Given the description of an element on the screen output the (x, y) to click on. 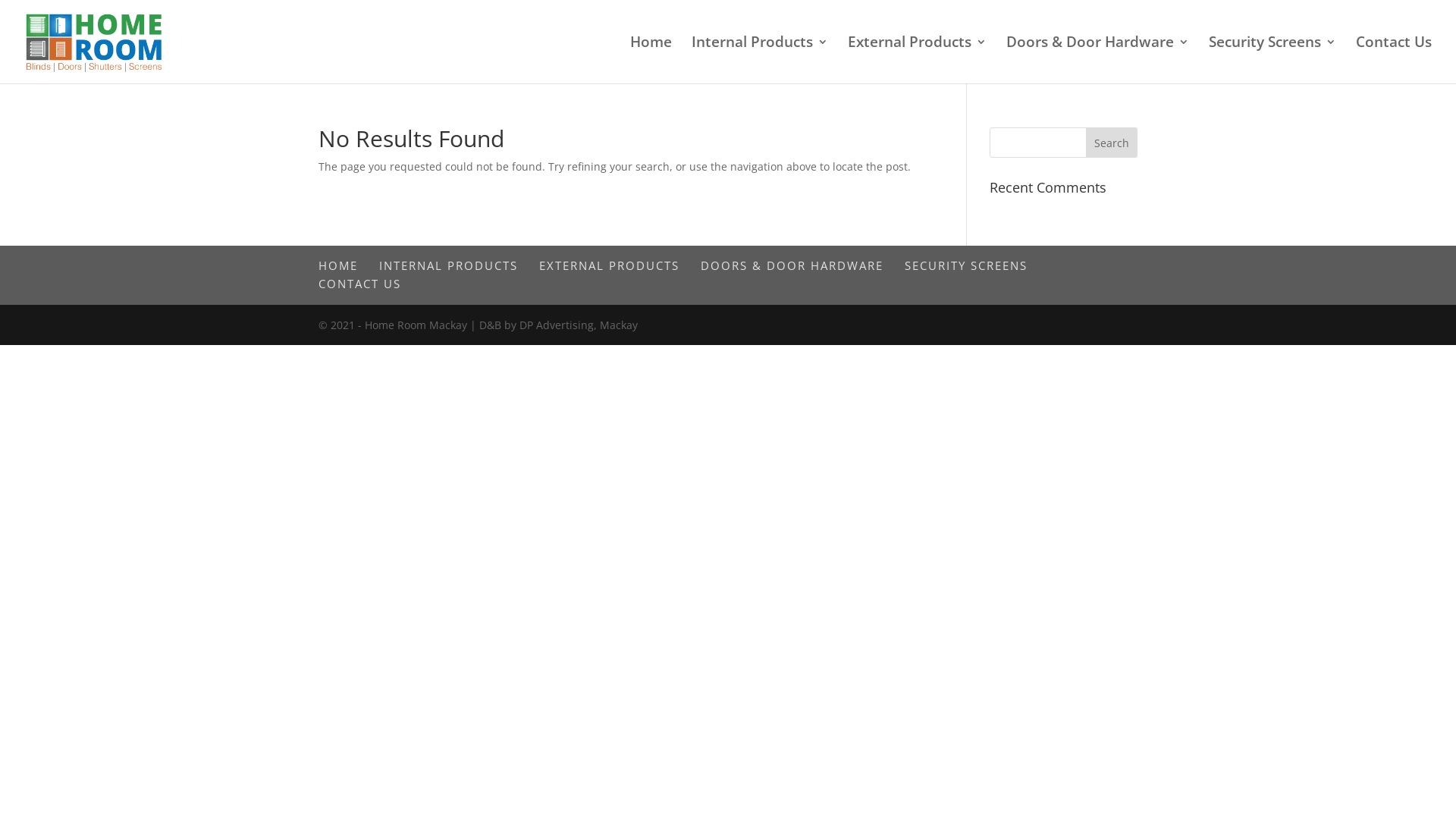
DOORS & DOOR HARDWARE Element type: text (791, 265)
External Products Element type: text (916, 59)
Internal Products Element type: text (759, 59)
SECURITY SCREENS Element type: text (965, 265)
Home Element type: text (650, 59)
Security Screens Element type: text (1272, 59)
EXTERNAL PRODUCTS Element type: text (609, 265)
Contact Us Element type: text (1393, 59)
CONTACT US Element type: text (359, 283)
Search Element type: text (1111, 142)
HOME Element type: text (337, 265)
INTERNAL PRODUCTS Element type: text (448, 265)
Doors & Door Hardware Element type: text (1097, 59)
